Given the description of an element on the screen output the (x, y) to click on. 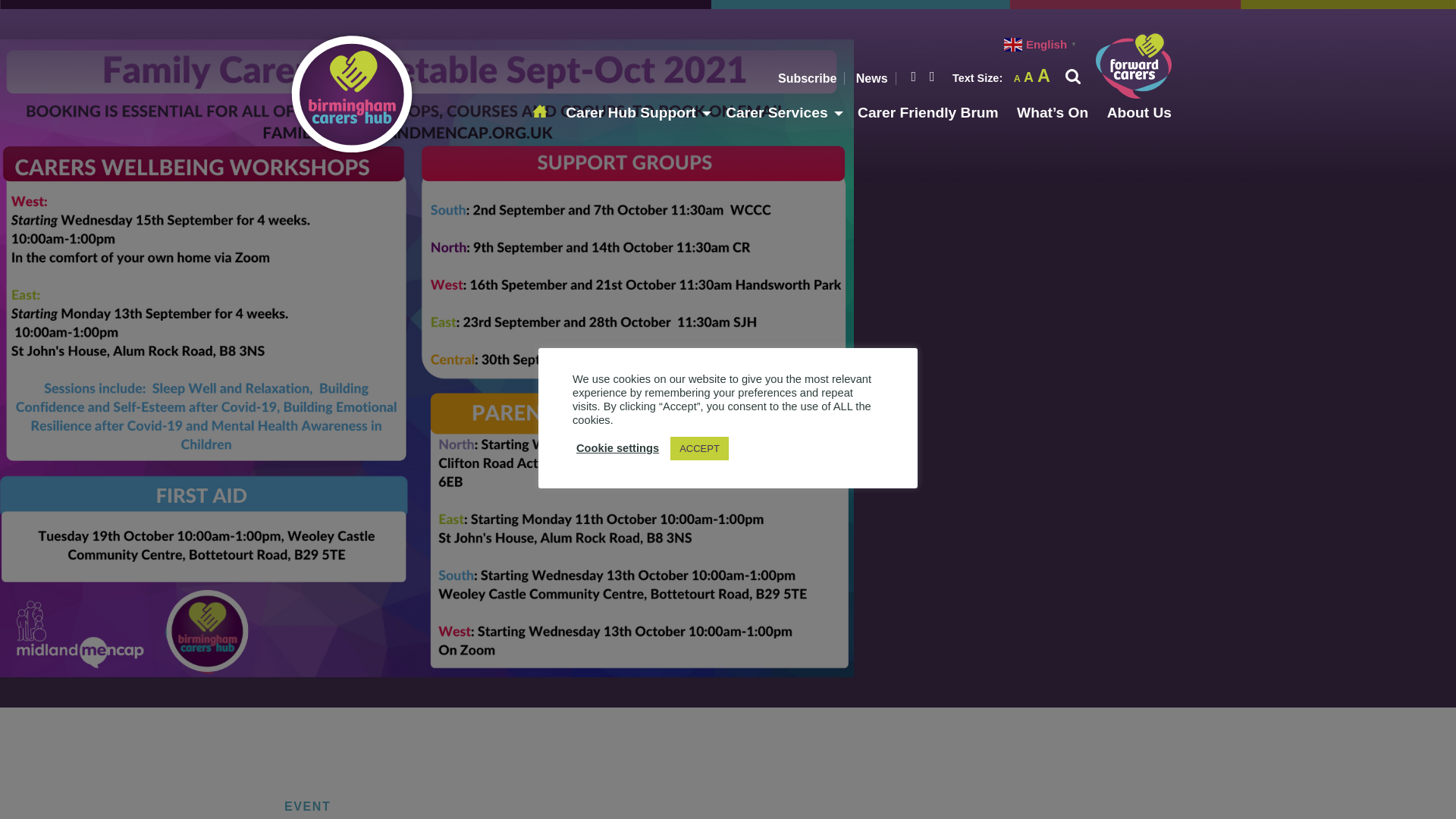
News (872, 78)
Subscribe (807, 78)
Search (1129, 9)
